Given the description of an element on the screen output the (x, y) to click on. 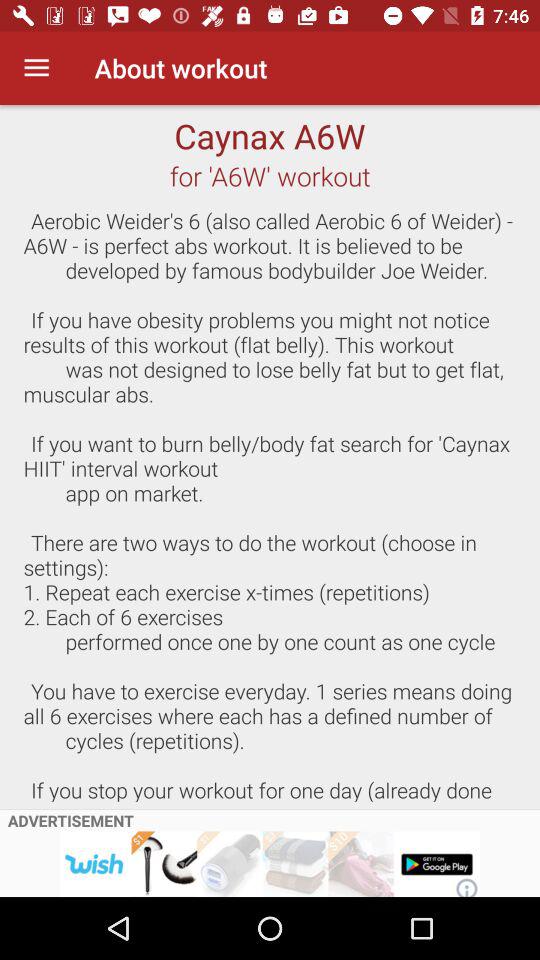
voew advertisement (270, 864)
